Given the description of an element on the screen output the (x, y) to click on. 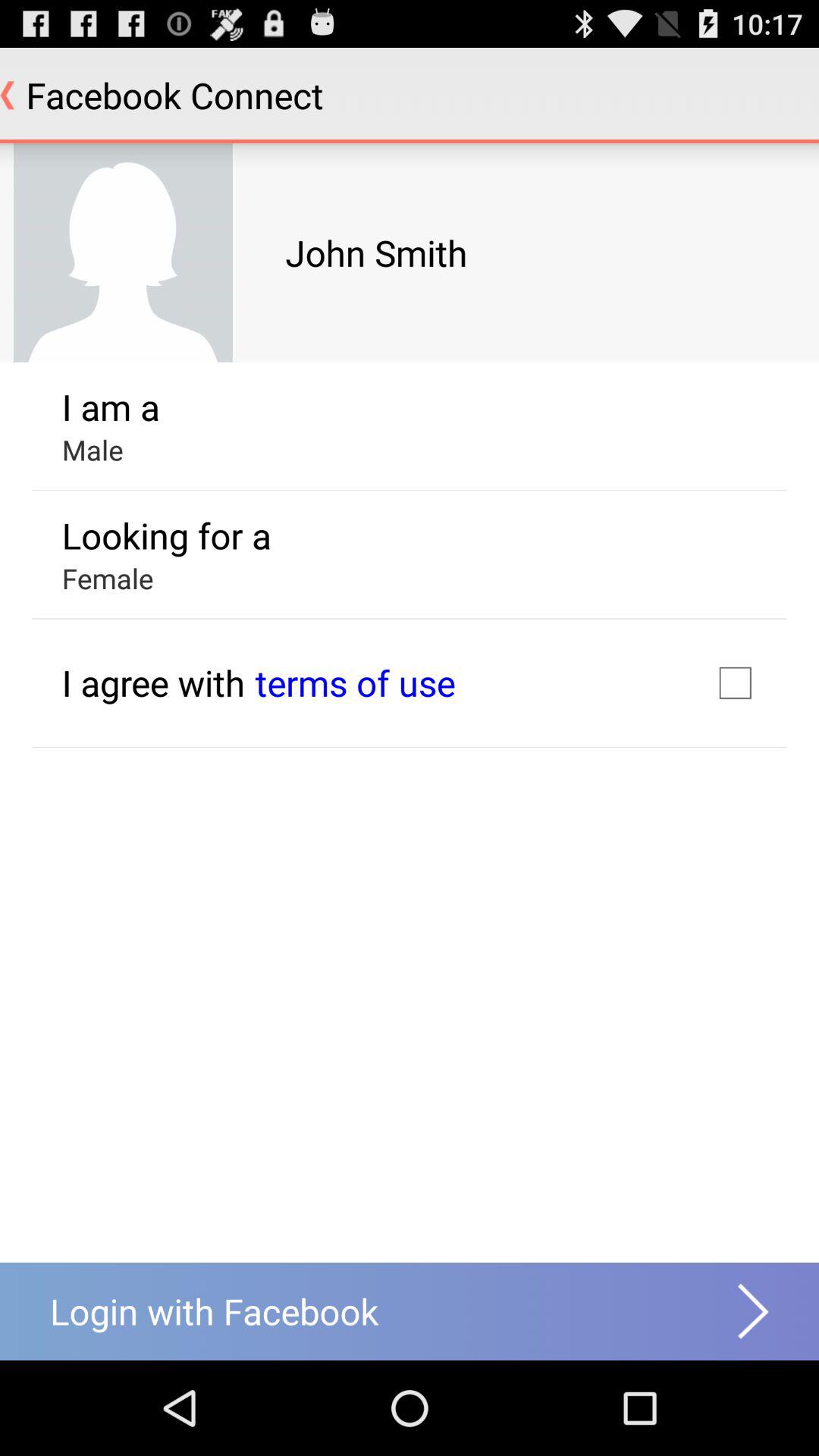
launch item below the female app (153, 682)
